Given the description of an element on the screen output the (x, y) to click on. 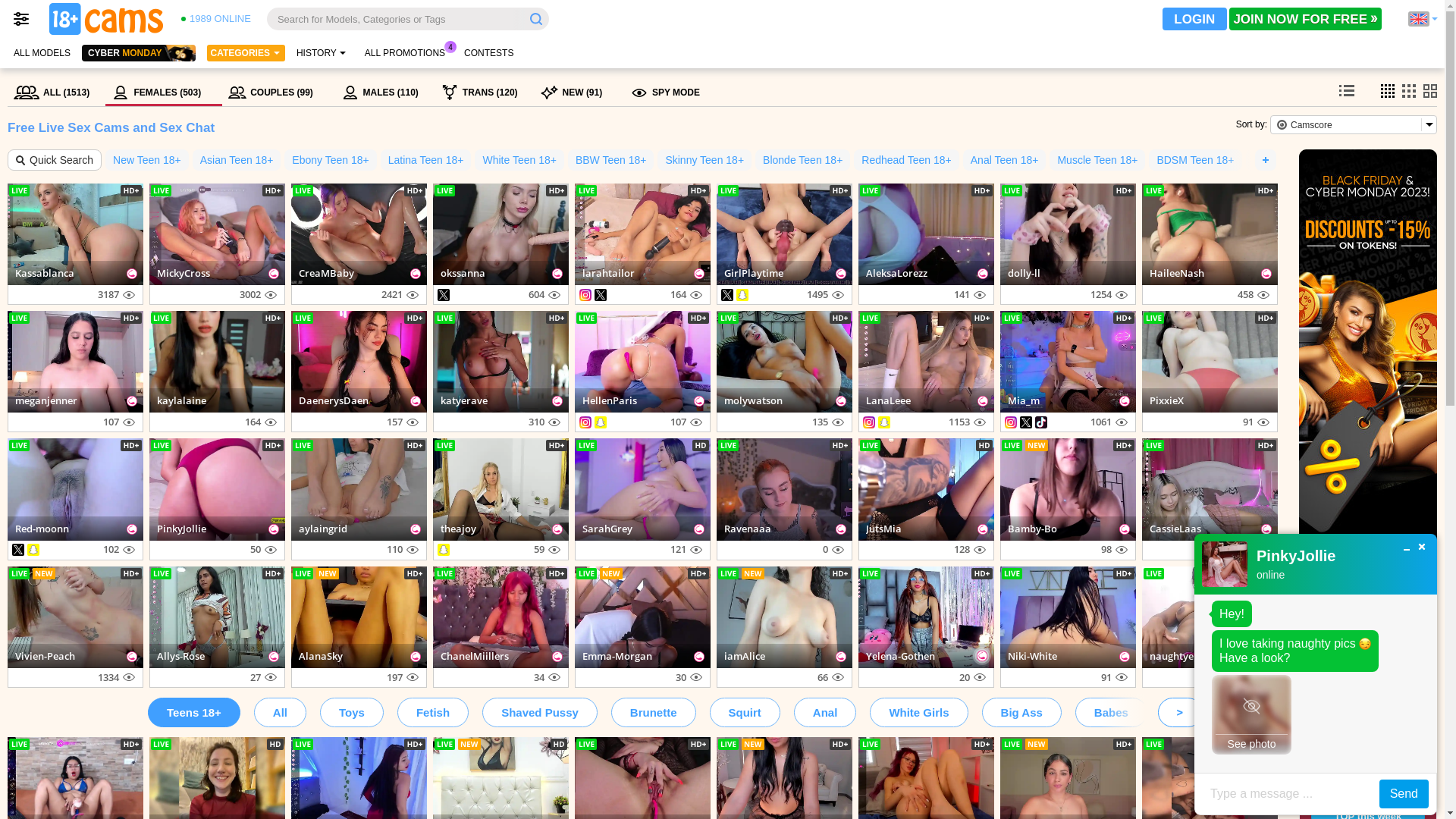
MickyCross Element type: text (183, 272)
JOIN NOW FOR FREE Element type: text (1305, 18)
NEW (91) Element type: text (579, 92)
naughtyebonyy Element type: text (1185, 655)
iamAlice Element type: text (744, 655)
katyerave Element type: text (463, 400)
White Girls Element type: text (918, 712)
CreaMBaby Element type: text (326, 272)
Vivien-Peach Element type: text (45, 655)
Red-moonn Element type: text (42, 528)
okssanna Element type: text (462, 272)
Blonde Teen 18+ Element type: text (802, 159)
MALES (110) Element type: text (385, 92)
SPY MODE Element type: text (665, 92)
GirlPlaytime Element type: text (753, 272)
Brunette Element type: text (653, 712)
aylaingrid Element type: text (322, 528)
theajoy Element type: text (458, 528)
Latina Teen 18+ Element type: text (425, 159)
BBW Teen 18+ Element type: text (610, 159)
Mia_m Element type: text (1023, 400)
JutsMia Element type: text (883, 528)
Fetish Element type: text (432, 712)
PinkyJollie Element type: text (181, 528)
FEMALES (503) Element type: text (163, 92)
Ebony Teen 18+ Element type: text (330, 159)
Babes Element type: text (1111, 712)
CassieLaas Element type: text (1175, 528)
Asian Teen 18+ Element type: text (236, 159)
TRANS (120) Element type: text (484, 92)
ALL PROMOTIONS Element type: text (404, 52)
CYBER MONDAY Element type: text (138, 52)
LanaLeee Element type: text (888, 400)
molywatson Element type: text (753, 400)
Anal Element type: text (824, 712)
HaileeNash Element type: text (1176, 272)
Kassablanca Element type: text (44, 272)
Anal Teen 18+ Element type: text (1004, 159)
Bamby-Bo Element type: text (1032, 528)
PixxieX Element type: text (1166, 400)
All Element type: text (280, 712)
meganjenner Element type: text (46, 400)
Teens 18+ Element type: text (193, 712)
White Teen 18+ Element type: text (518, 159)
AleksaLorezz Element type: text (896, 272)
Yelena-Gothen Element type: text (900, 655)
SarahGrey Element type: text (607, 528)
New Teen 18+ Element type: text (146, 159)
Allys-Rose Element type: text (180, 655)
HellenParis Element type: text (609, 400)
Toys Element type: text (351, 712)
CONTESTS Element type: text (488, 52)
Emma-Morgan Element type: text (617, 655)
kaylalaine Element type: text (181, 400)
larahtailor Element type: text (608, 272)
dolly-ll Element type: text (1023, 272)
FurElisse Element type: text (1367, 726)
Muscle Teen 18+ Element type: text (1097, 159)
COUPLES (99) Element type: text (278, 92)
Big Ass Element type: text (1021, 712)
AlanaSky Element type: text (320, 655)
Big Ass Teen 18+ Element type: text (1294, 159)
Squirt Element type: text (744, 712)
ALL MODELS Element type: text (42, 52)
DaenerysDaen Element type: text (333, 400)
Niki-White Element type: text (1032, 655)
ALL (1513) Element type: text (56, 92)
LOGIN Element type: text (1194, 18)
ChanelMiillers Element type: text (474, 655)
Ravenaaa Element type: text (747, 528)
Send Element type: text (1403, 793)
Redhead Teen 18+ Element type: text (905, 159)
BDSM Teen 18+ Element type: text (1194, 159)
Skinny Teen 18+ Element type: text (704, 159)
Shaved Pussy Element type: text (539, 712)
